Given the description of an element on the screen output the (x, y) to click on. 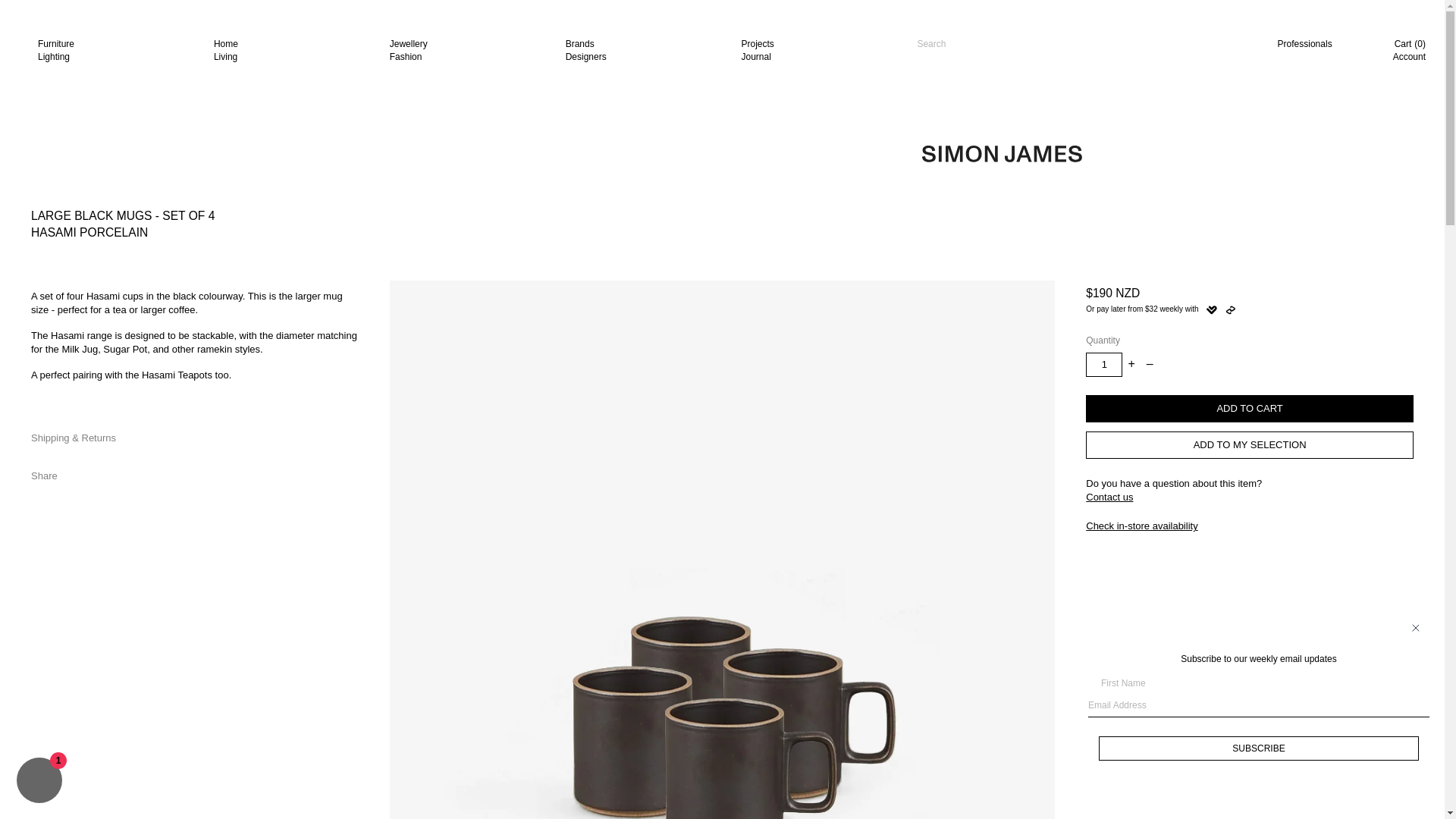
Close dialog 1 (116, 50)
Shopify online store chat (1415, 627)
Professionals (38, 781)
1 (1305, 43)
Account (644, 50)
